Given the description of an element on the screen output the (x, y) to click on. 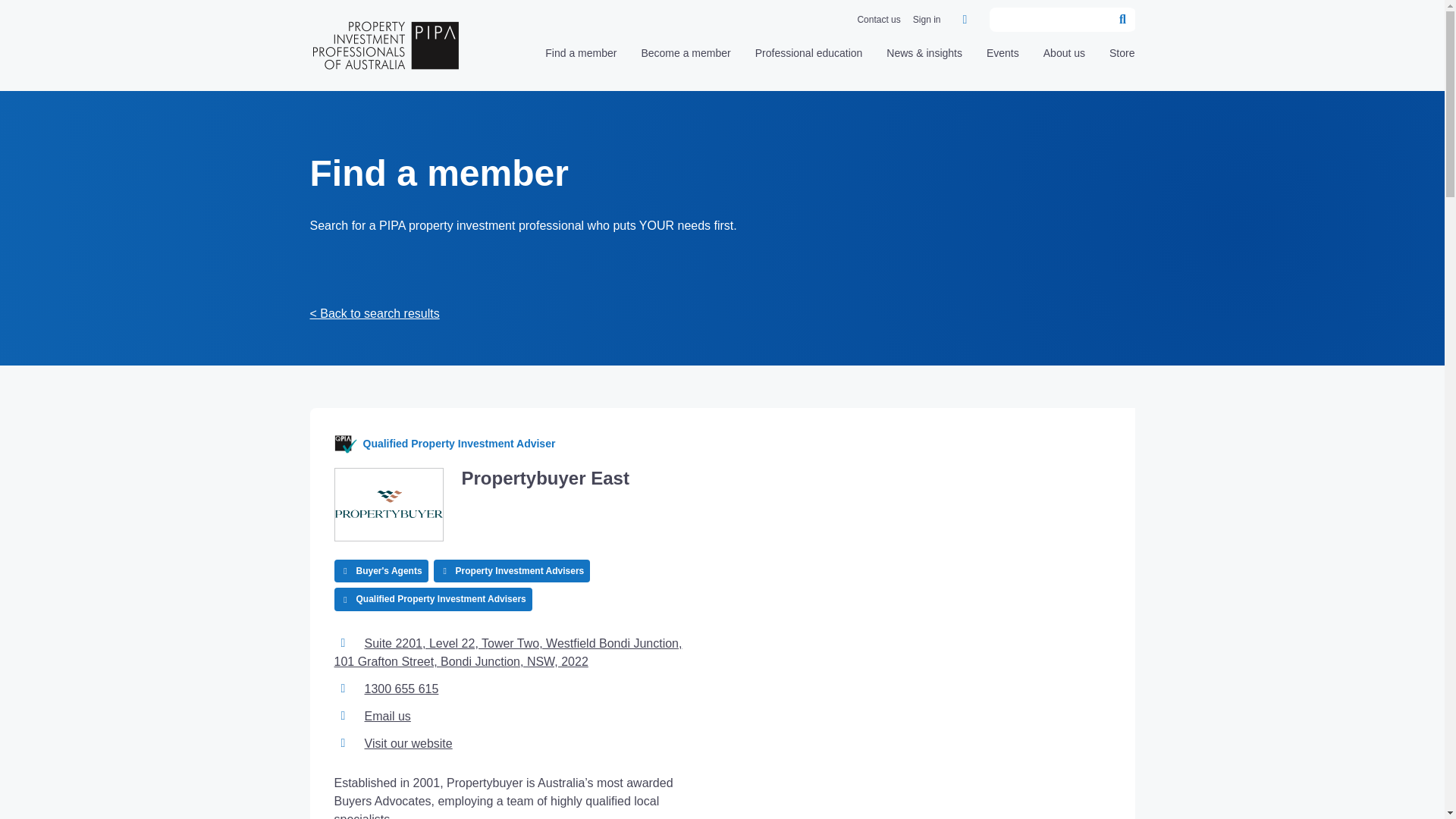
Find a member (579, 57)
Search (1121, 19)
Visit our website (407, 743)
Professional education (809, 57)
Contact us (878, 19)
Store (1121, 57)
Sign in (926, 19)
Events (1003, 57)
Search (1121, 19)
